Given the description of an element on the screen output the (x, y) to click on. 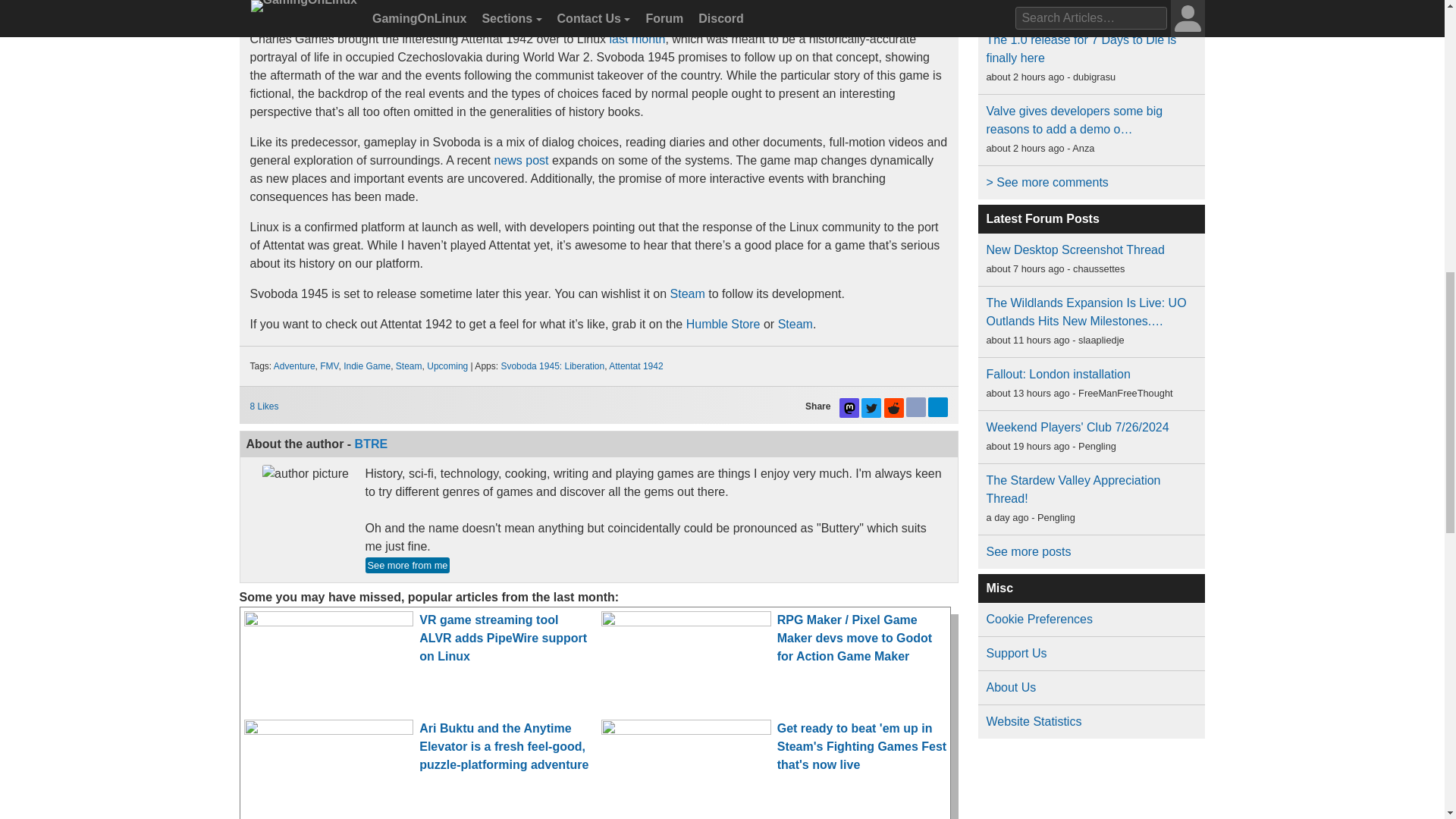
Share to Mastodon (849, 407)
